Given the description of an element on the screen output the (x, y) to click on. 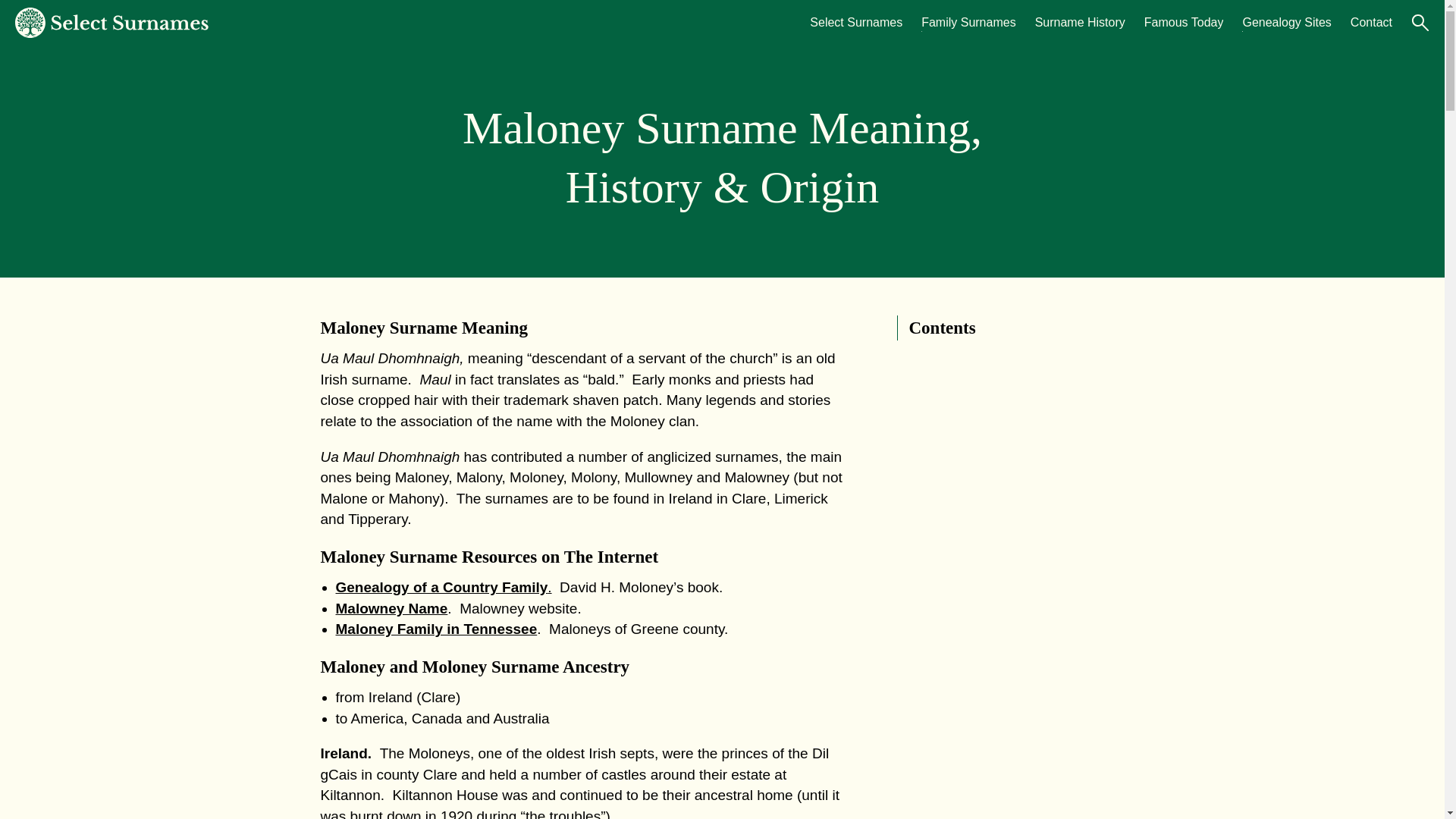
Family Surnames (967, 22)
Genealogy Sites (1285, 22)
Surname History (1080, 22)
Select Surnames (855, 22)
Maloney Family in Tennessee (435, 628)
Contact (1371, 22)
Famous Today (1184, 22)
Genealogy of a Country Family. (442, 587)
Malowney Name (390, 608)
